Given the description of an element on the screen output the (x, y) to click on. 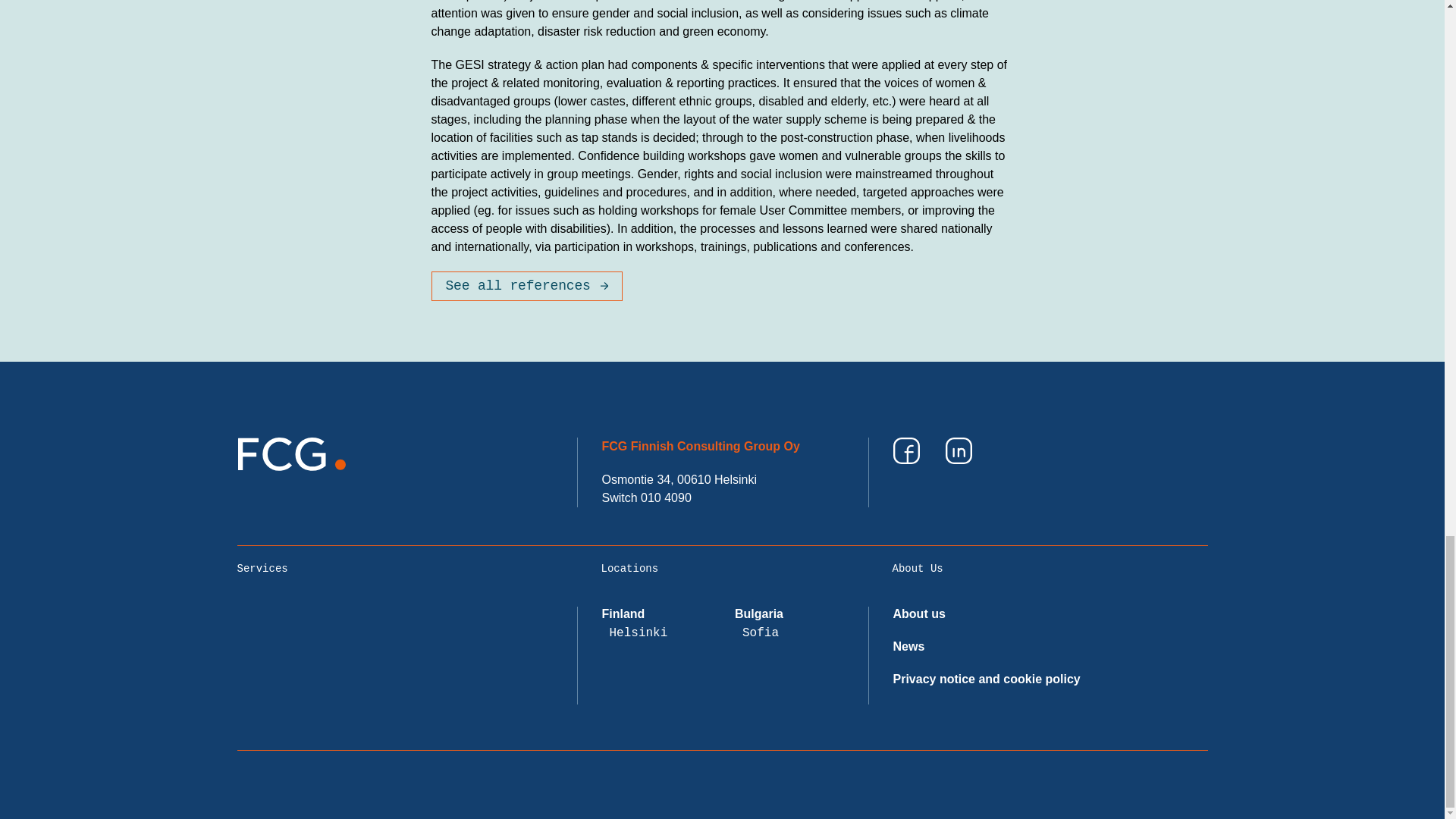
Privacy notice and cookie policy (986, 678)
Helsinki (639, 632)
See all references (526, 286)
Finland (623, 613)
Bulgaria (759, 613)
About us (918, 613)
News (908, 645)
Sofia (760, 632)
